Given the description of an element on the screen output the (x, y) to click on. 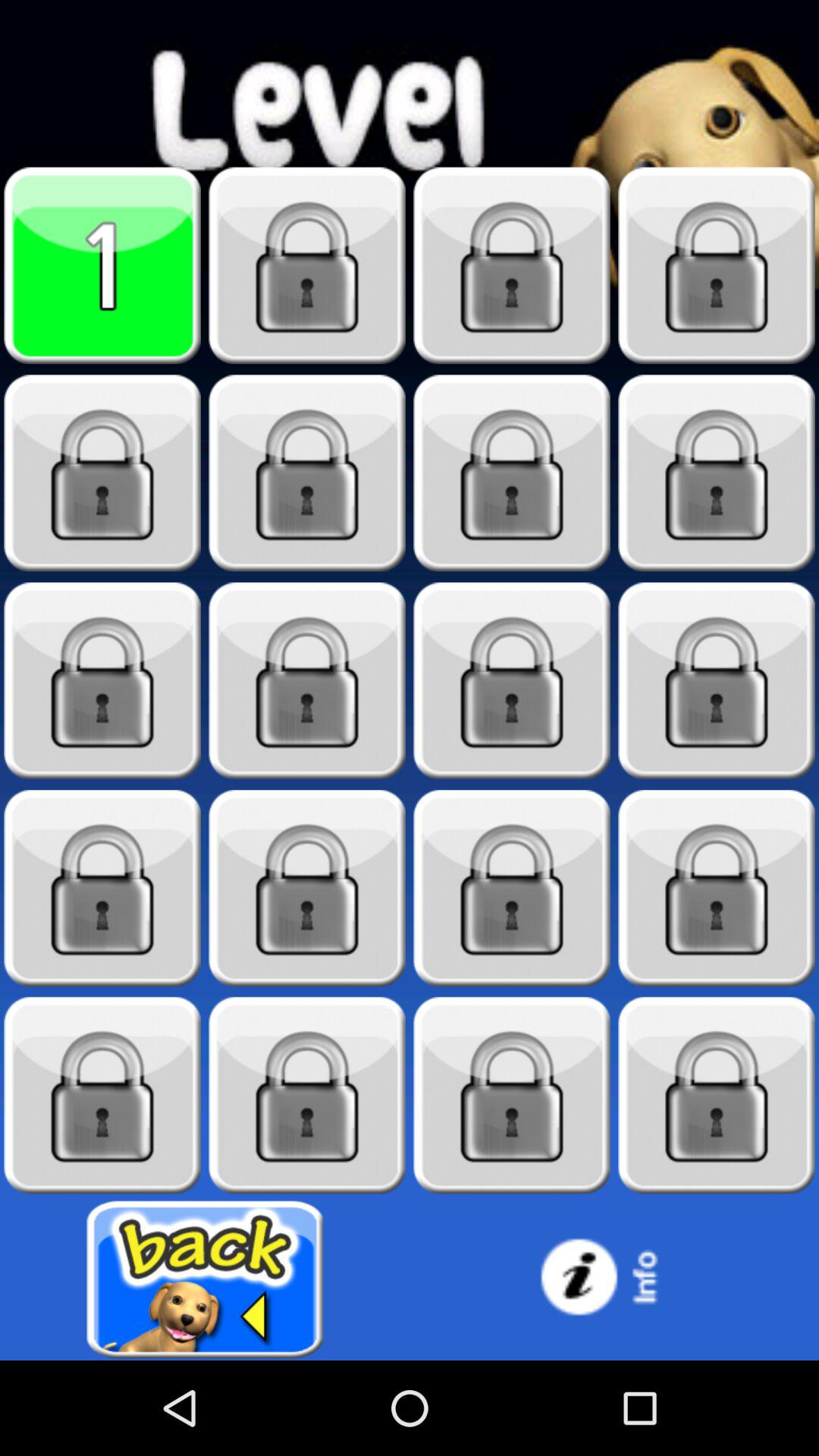
level 18 locked (306, 1094)
